Given the description of an element on the screen output the (x, y) to click on. 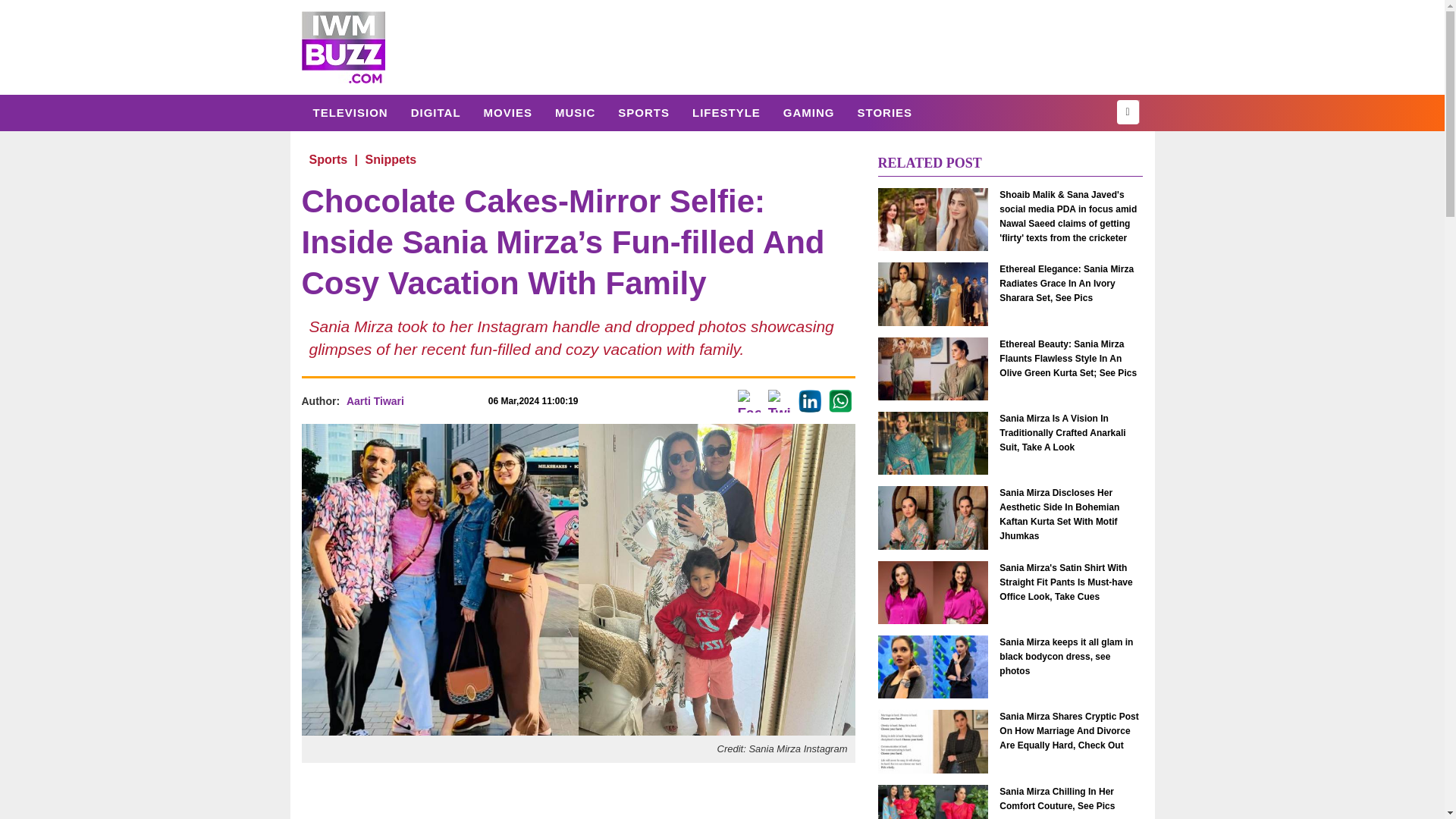
3rd party ad content (577, 796)
Gaming (808, 112)
Aarti Tiwari (375, 400)
Sania Mirza Chilling In Her Comfort Couture, See Pics (1070, 798)
IWMBuzz (343, 46)
Television (349, 112)
Movies (507, 112)
Lifestyle (726, 112)
TELEVISION (349, 112)
Web Stories (884, 112)
